Given the description of an element on the screen output the (x, y) to click on. 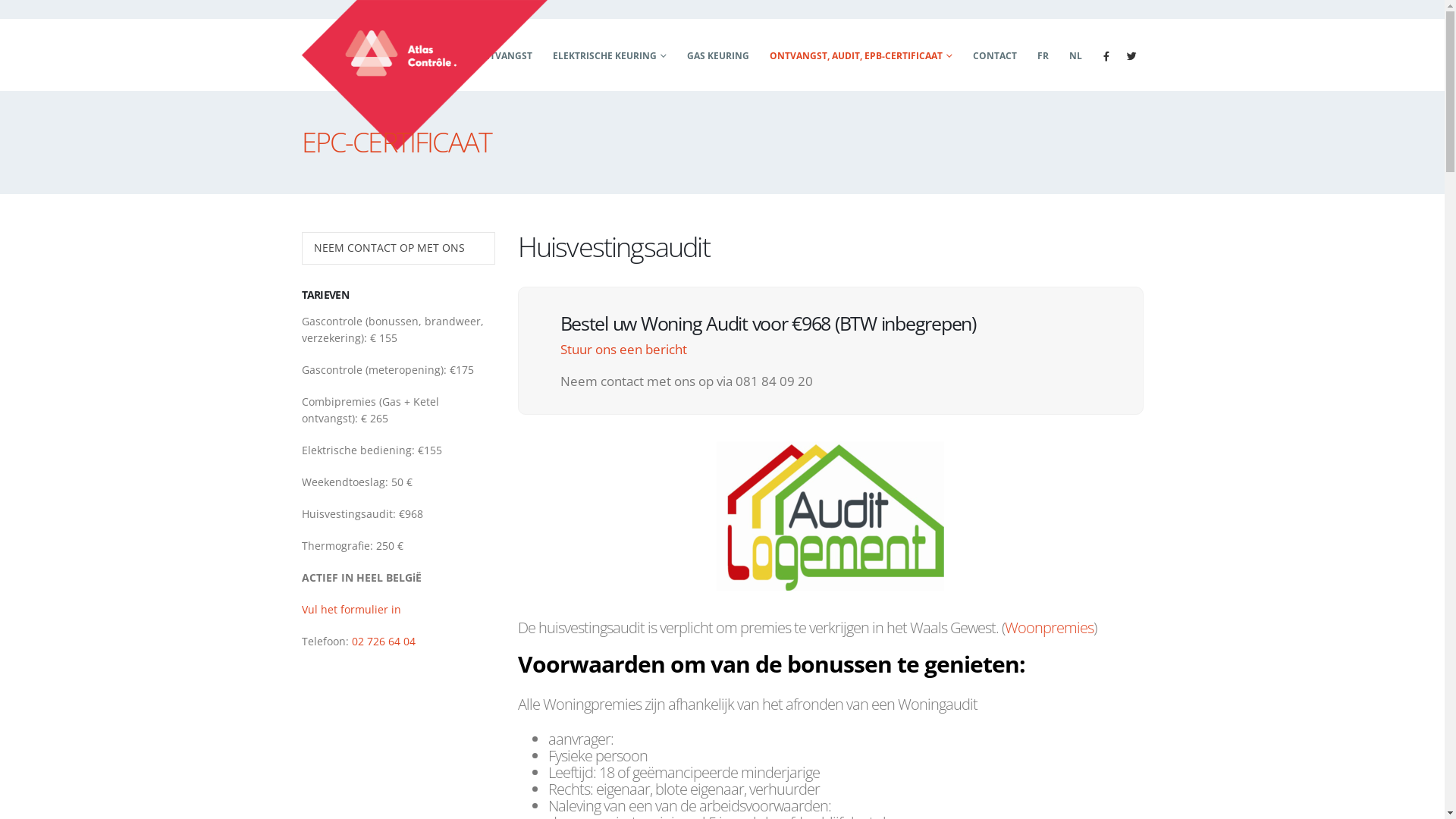
Twitter Element type: hover (1131, 55)
Facebook Element type: hover (1105, 55)
Woonpremies Element type: text (1048, 627)
Vul het formulier in Element type: text (351, 609)
Atlas Control - Een partner voor uw installaties Element type: hover (424, 75)
Stuur ons een bericht Element type: text (622, 348)
ONTVANGST, AUDIT, EPB-CERTIFICAAT Element type: text (860, 54)
NEEM CONTACT OP MET ONS Element type: text (397, 247)
02 726 64 04 Element type: text (383, 640)
CONTACT Element type: text (994, 54)
NL Element type: text (1074, 54)
ELEKTRISCHE KEURING Element type: text (609, 54)
FR Element type: text (1041, 54)
GAS KEURING Element type: text (717, 54)
ONTVANGST Element type: text (502, 54)
